Given the description of an element on the screen output the (x, y) to click on. 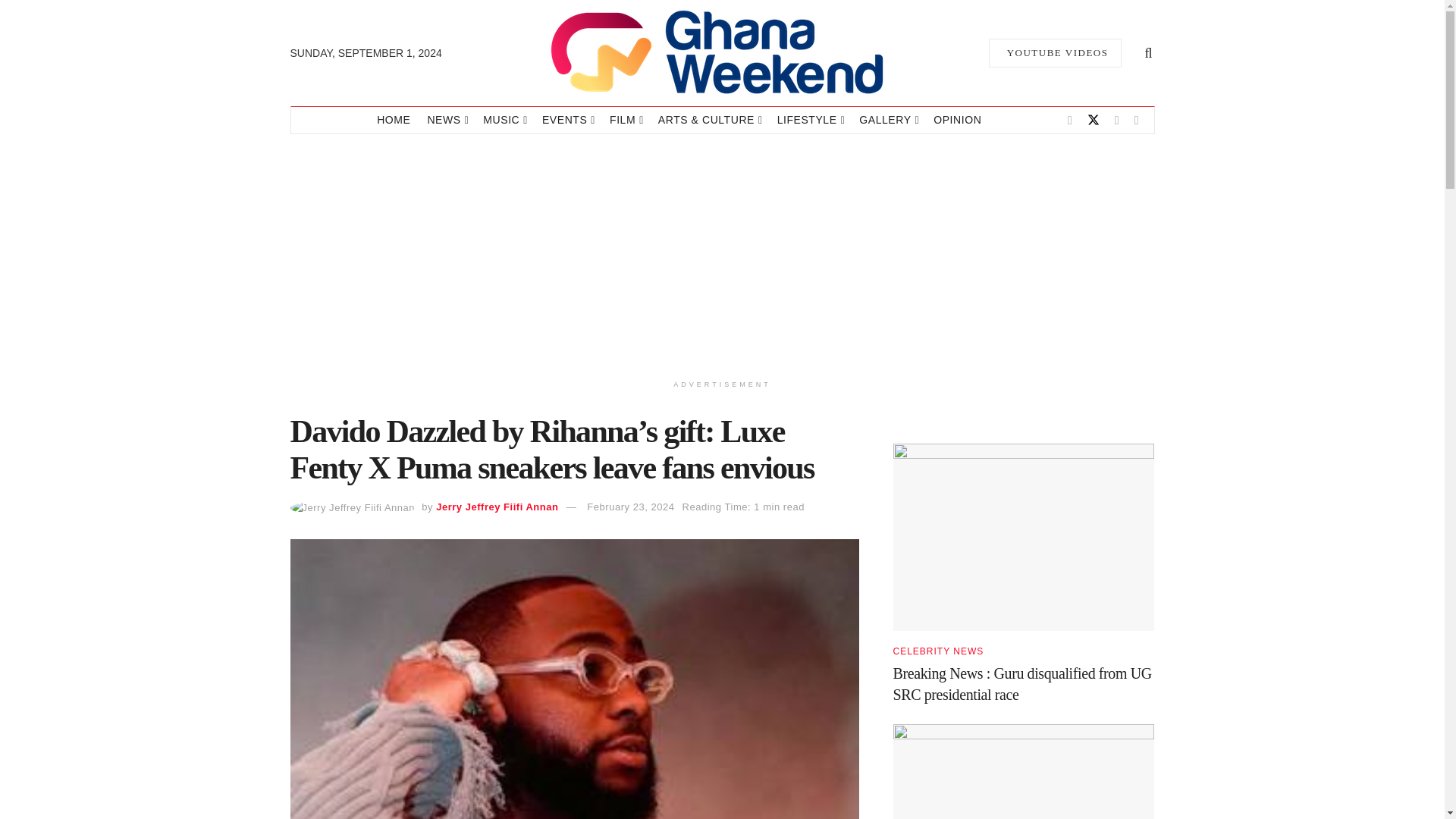
LIFESTYLE (810, 120)
HOME (393, 120)
YOUTUBE VIDEOS (1054, 52)
OPINION (957, 120)
EVENTS (566, 120)
GALLERY (888, 120)
NEWS (445, 120)
FILM (626, 120)
MUSIC (504, 120)
